Given the description of an element on the screen output the (x, y) to click on. 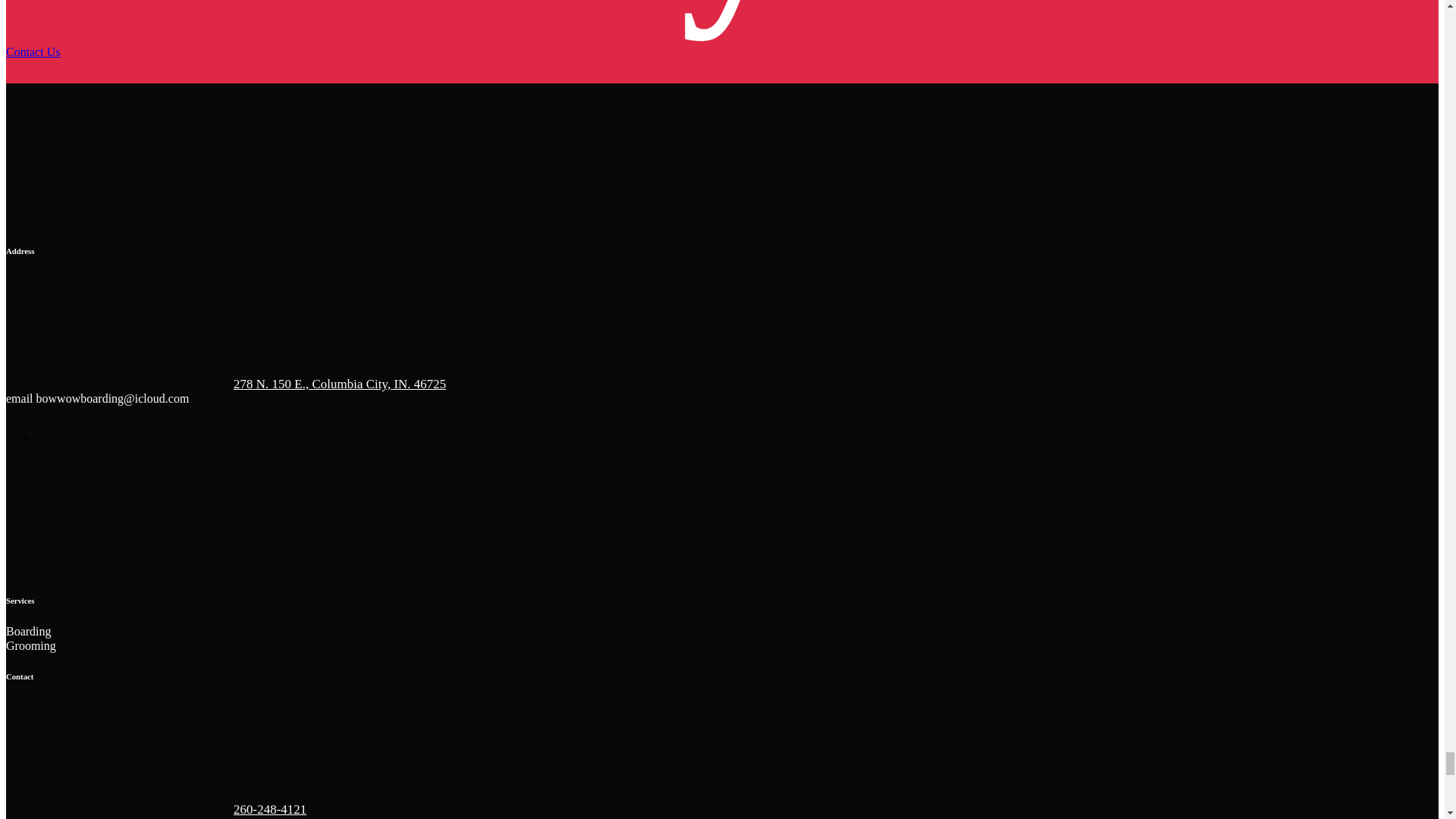
278 N. 150 E., Columbia City, IN. 46725 (225, 383)
Contact Us (33, 51)
260-248-4121 (155, 809)
